Given the description of an element on the screen output the (x, y) to click on. 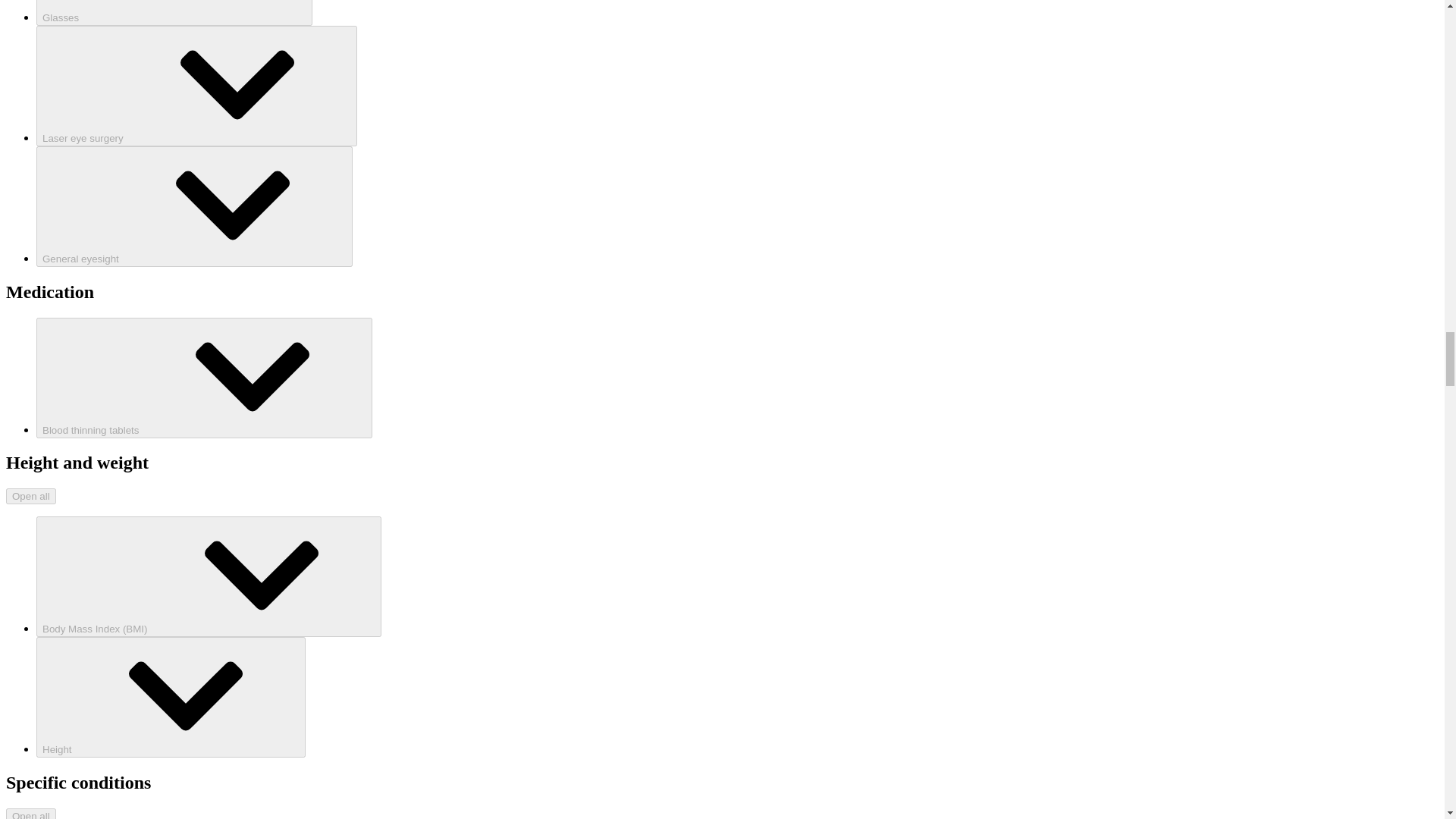
Laser eye surgery (196, 85)
Glasses (174, 12)
